Given the description of an element on the screen output the (x, y) to click on. 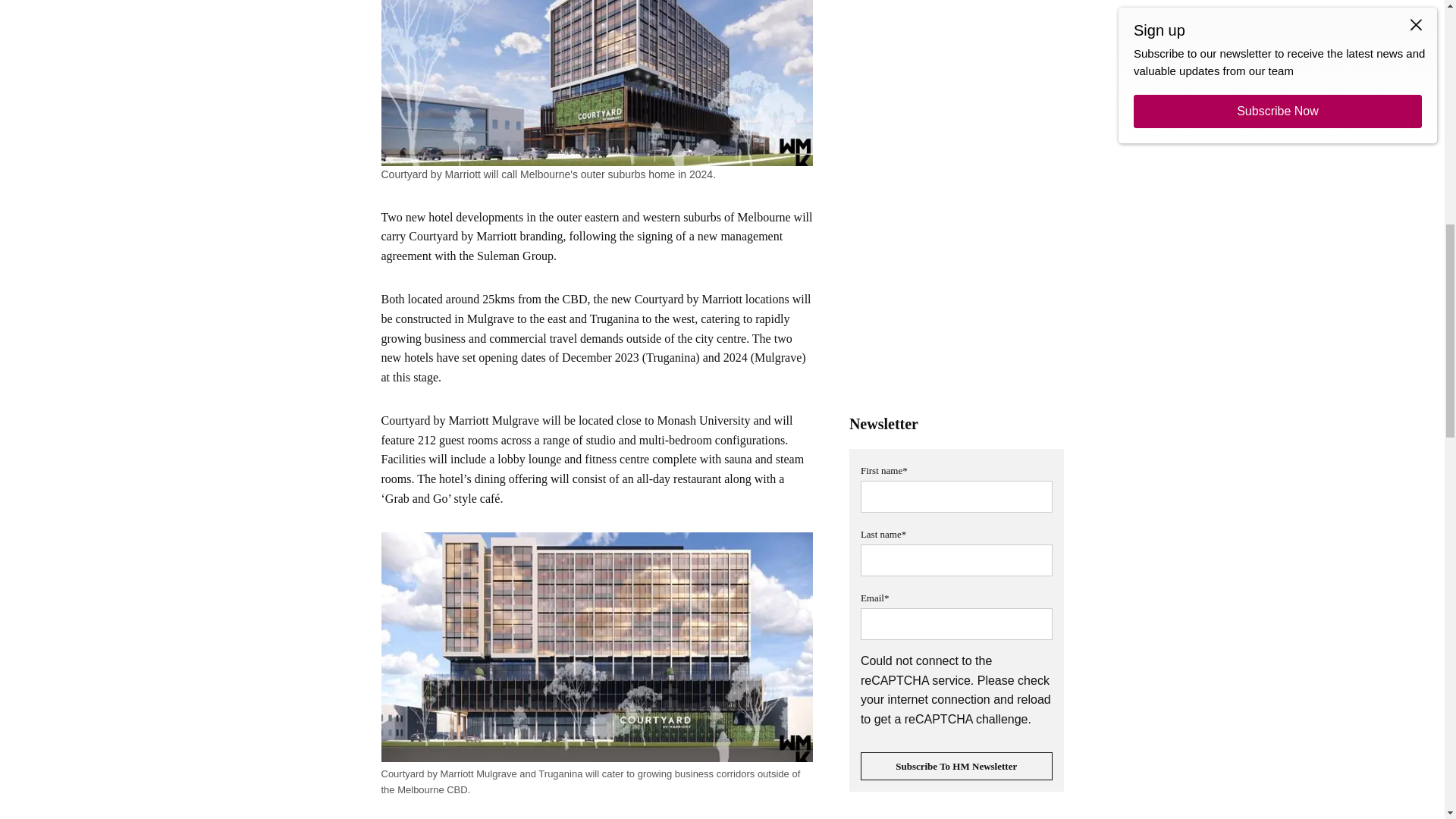
3rd party ad content (956, 816)
Subscribe to HM Newsletter (956, 766)
